Given the description of an element on the screen output the (x, y) to click on. 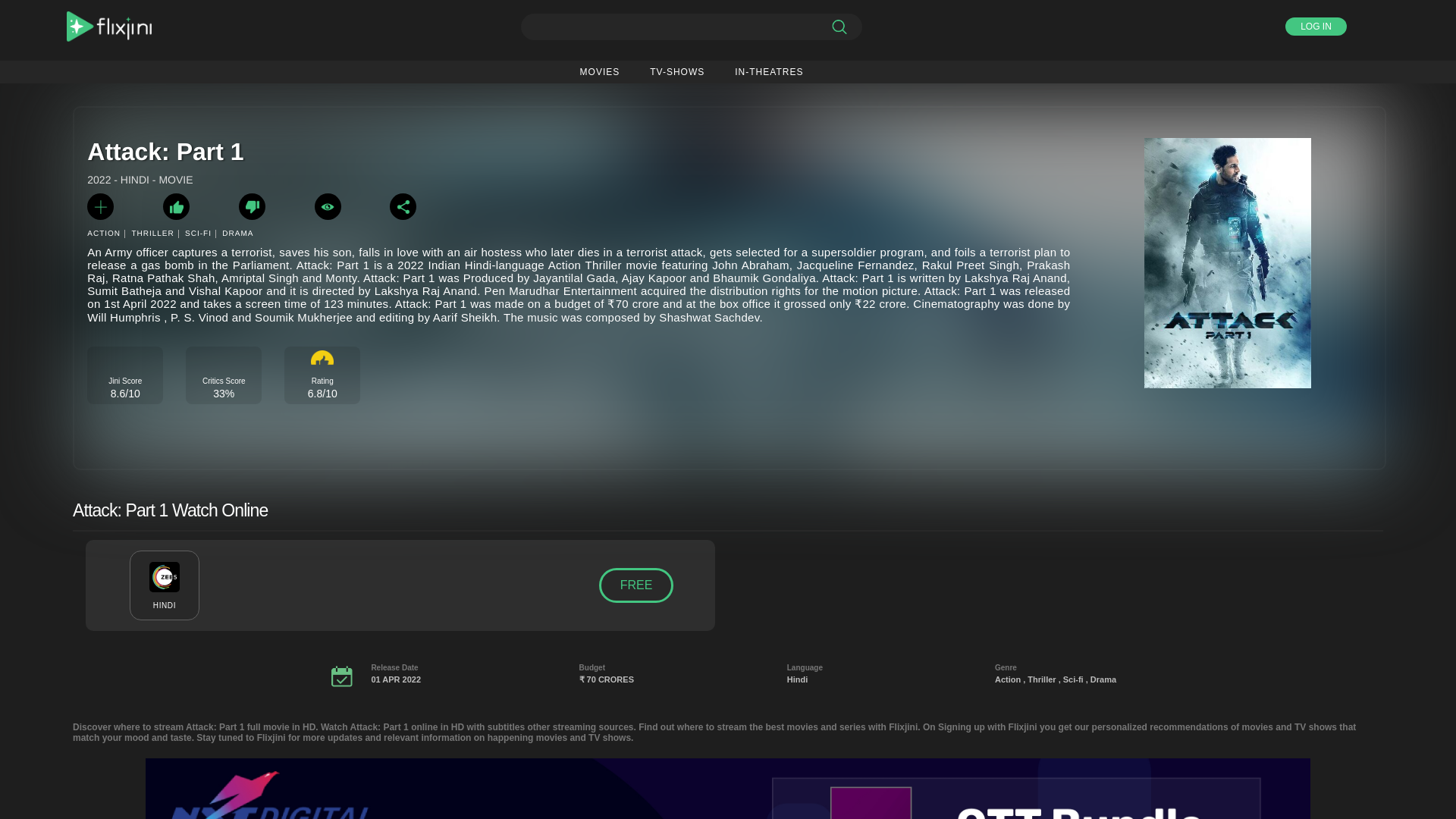
Like Movie (176, 206)
TV-SHOWS (676, 71)
Mark as Seen (327, 206)
Dislike Movie (251, 206)
IN-THEATRES (768, 71)
Add to Queue (100, 206)
MOVIES (599, 71)
Share with Friends (403, 206)
FREE (636, 585)
